Given the description of an element on the screen output the (x, y) to click on. 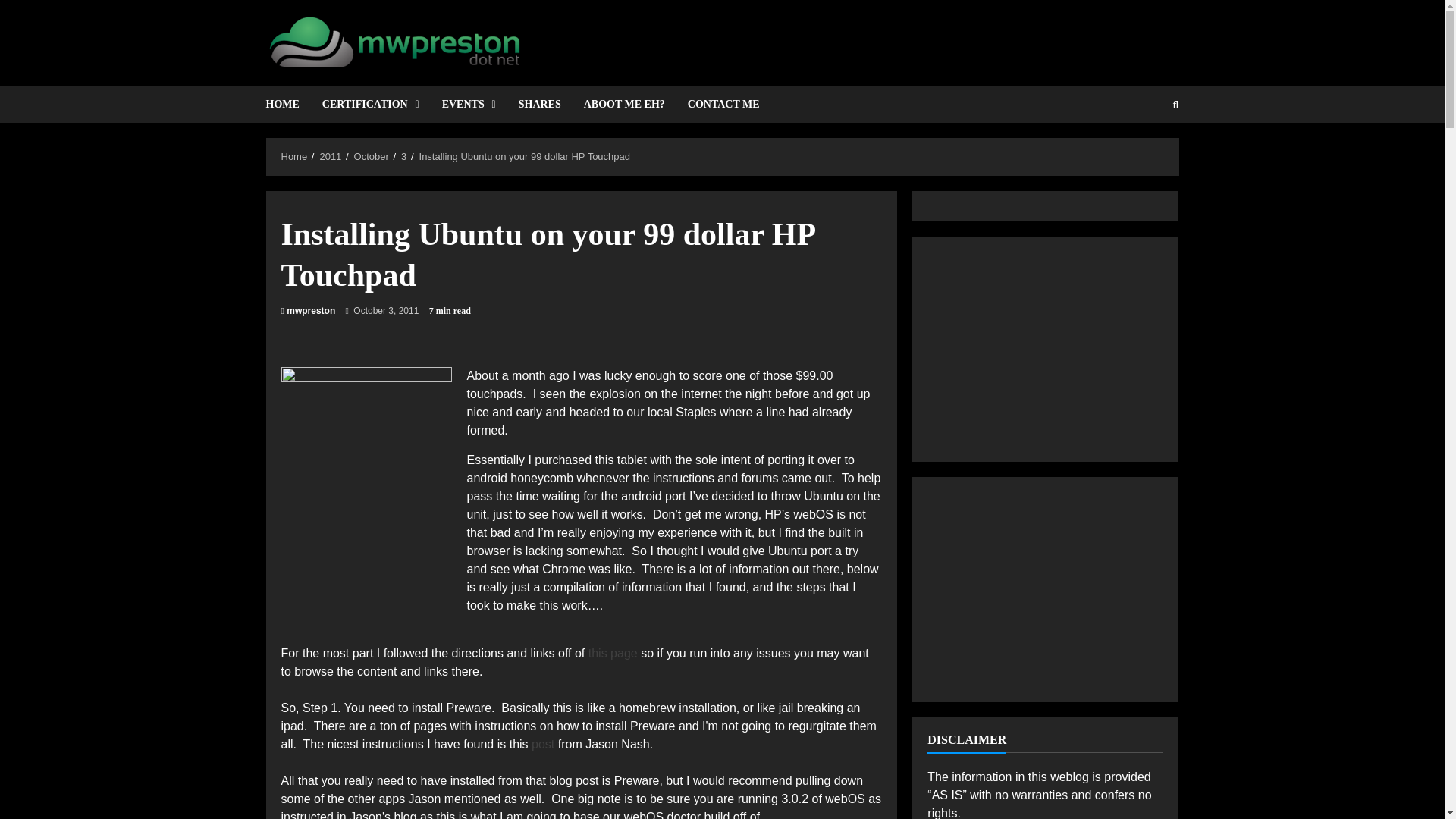
ABOOT ME EH? (624, 103)
CONTACT ME (718, 103)
SHARES (539, 103)
post (542, 744)
2011 (329, 156)
EVENTS (468, 103)
this page (612, 653)
Installing Ubuntu on your 99 dollar HP Touchpad (524, 156)
CERTIFICATION (370, 103)
HOME (287, 103)
